Given the description of an element on the screen output the (x, y) to click on. 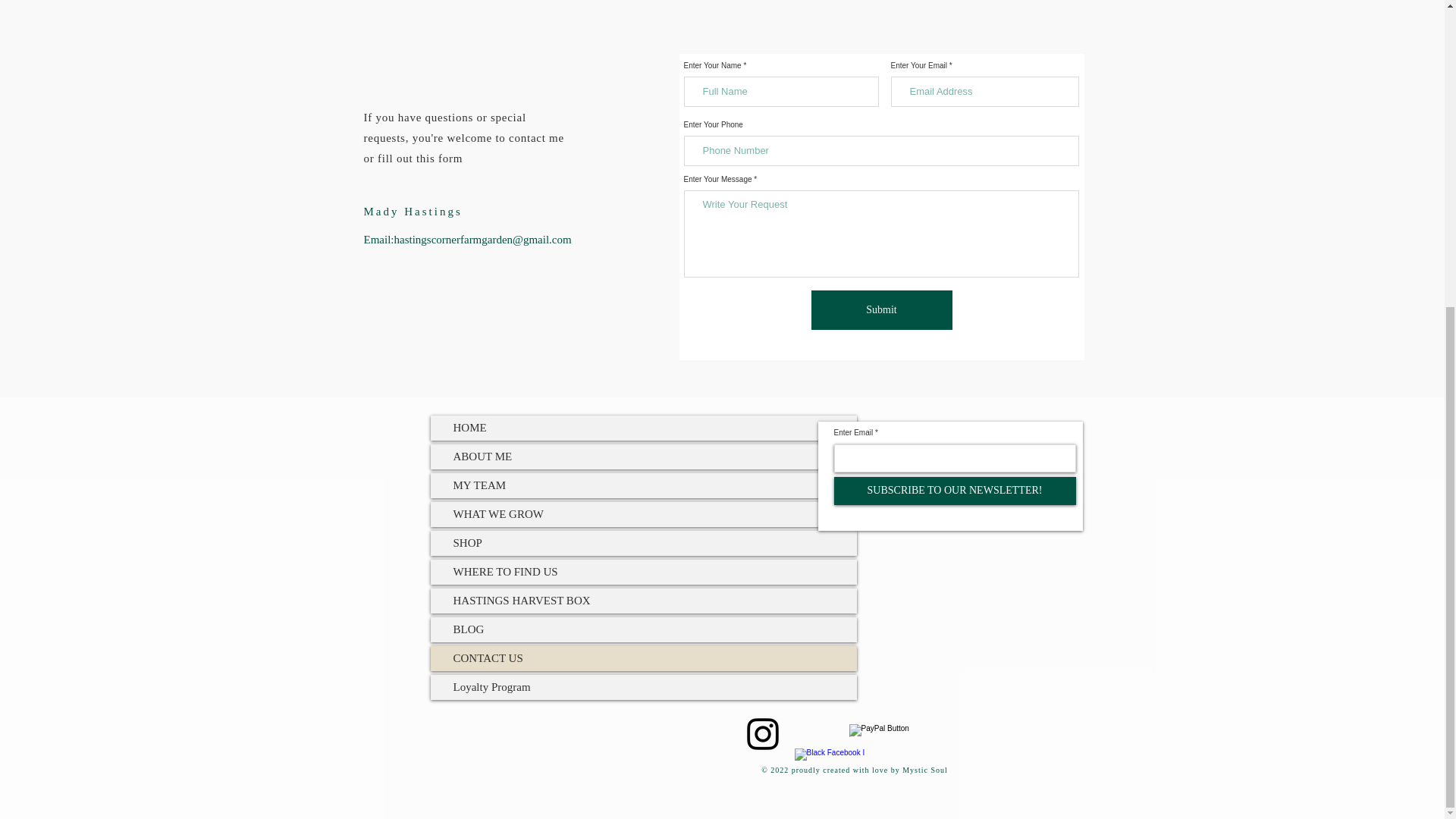
SHOP (643, 543)
Loyalty Program (643, 687)
CONTACT US (643, 658)
BLOG (643, 629)
WHAT WE GROW (643, 514)
HASTINGS HARVEST BOX (643, 600)
HOME (643, 427)
Submit (881, 310)
ABOUT ME (643, 456)
MY TEAM (643, 485)
WHERE TO FIND US (643, 571)
